Given the description of an element on the screen output the (x, y) to click on. 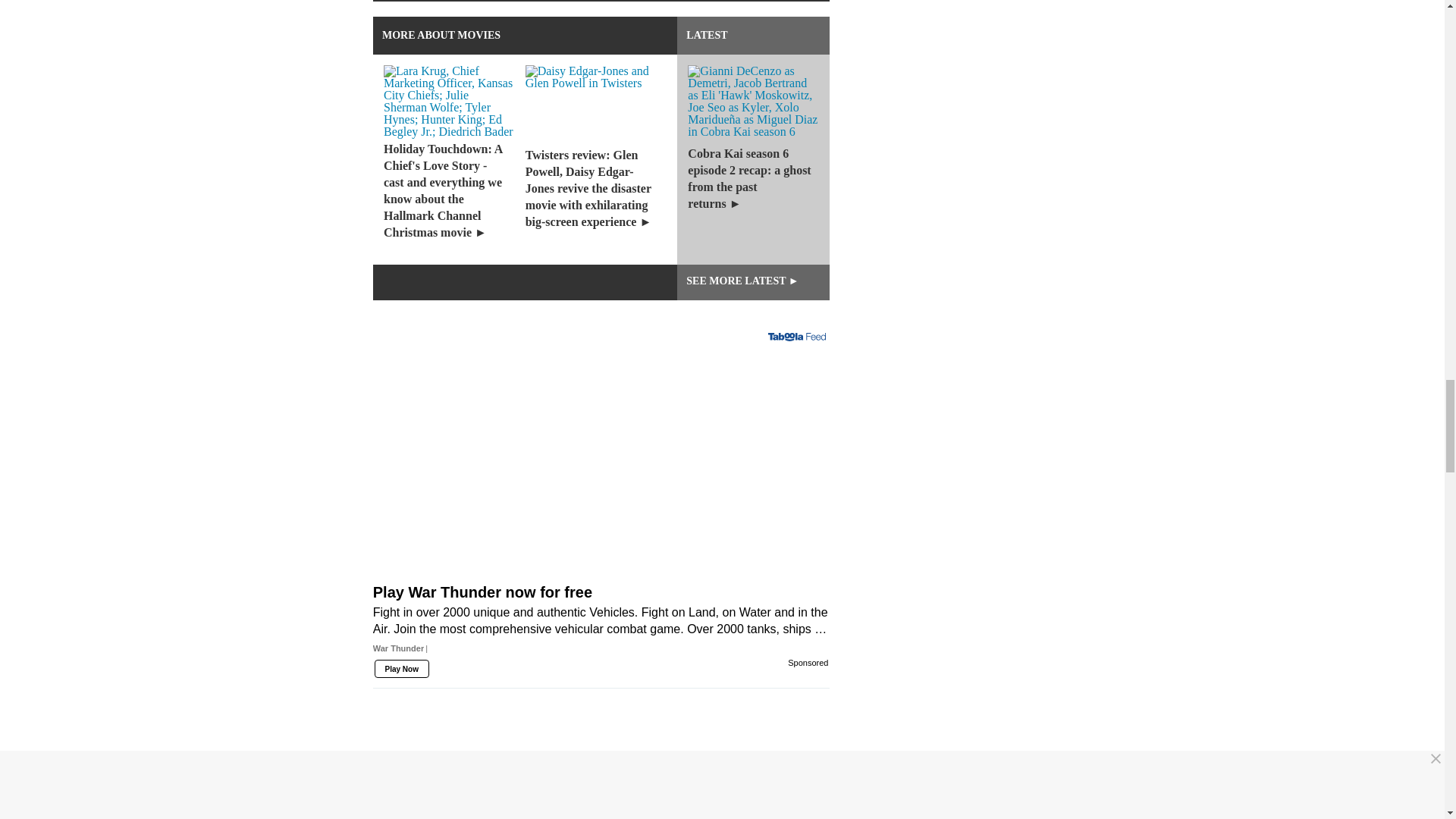
Play War Thunder now for free (600, 629)
Play War Thunder now for free (600, 468)
